Given the description of an element on the screen output the (x, y) to click on. 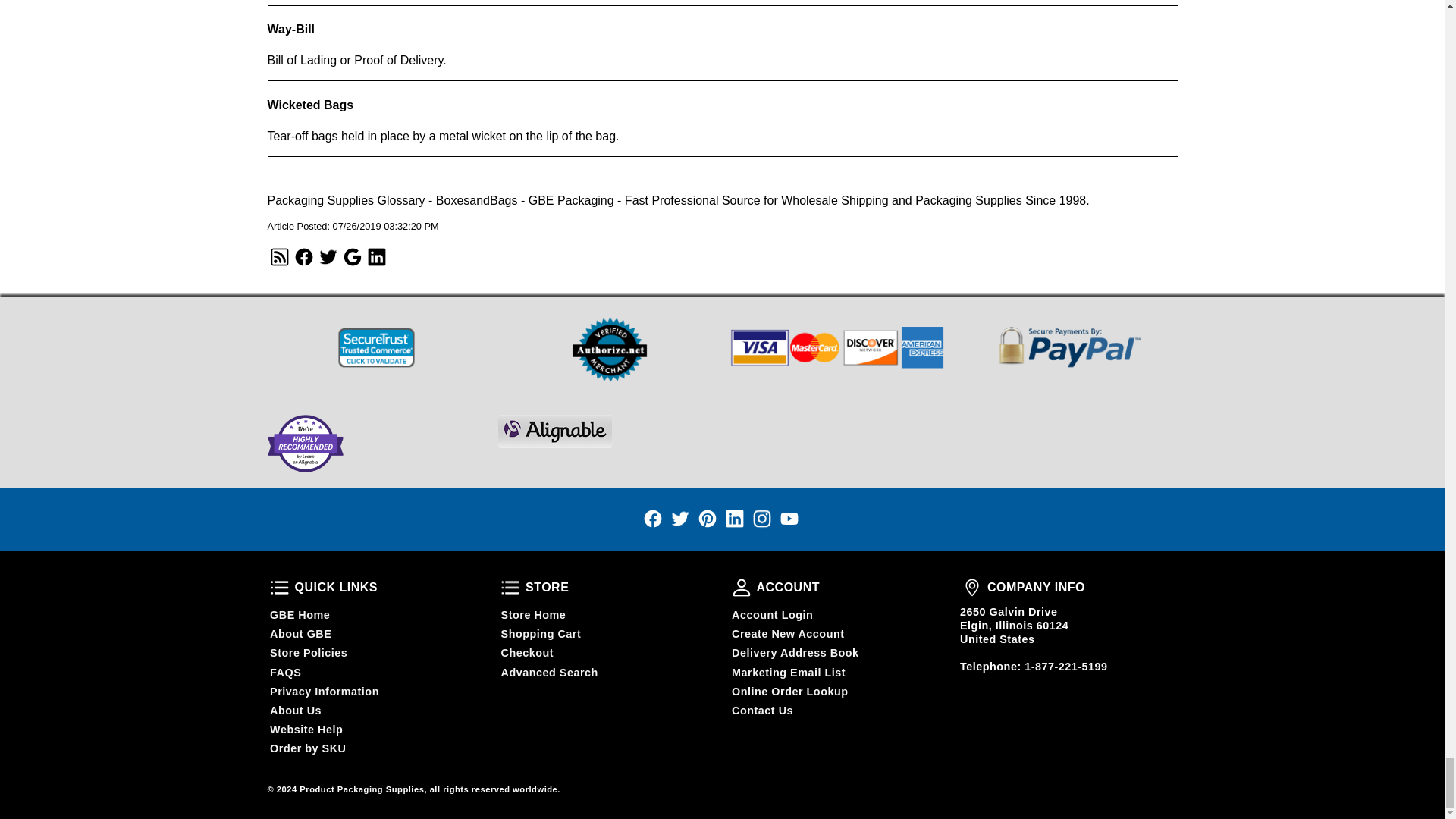
RSS Feed (327, 256)
RSS Feed (376, 256)
RSS Feed (278, 256)
RSS Feed (351, 256)
RSS Feed (303, 256)
